Given the description of an element on the screen output the (x, y) to click on. 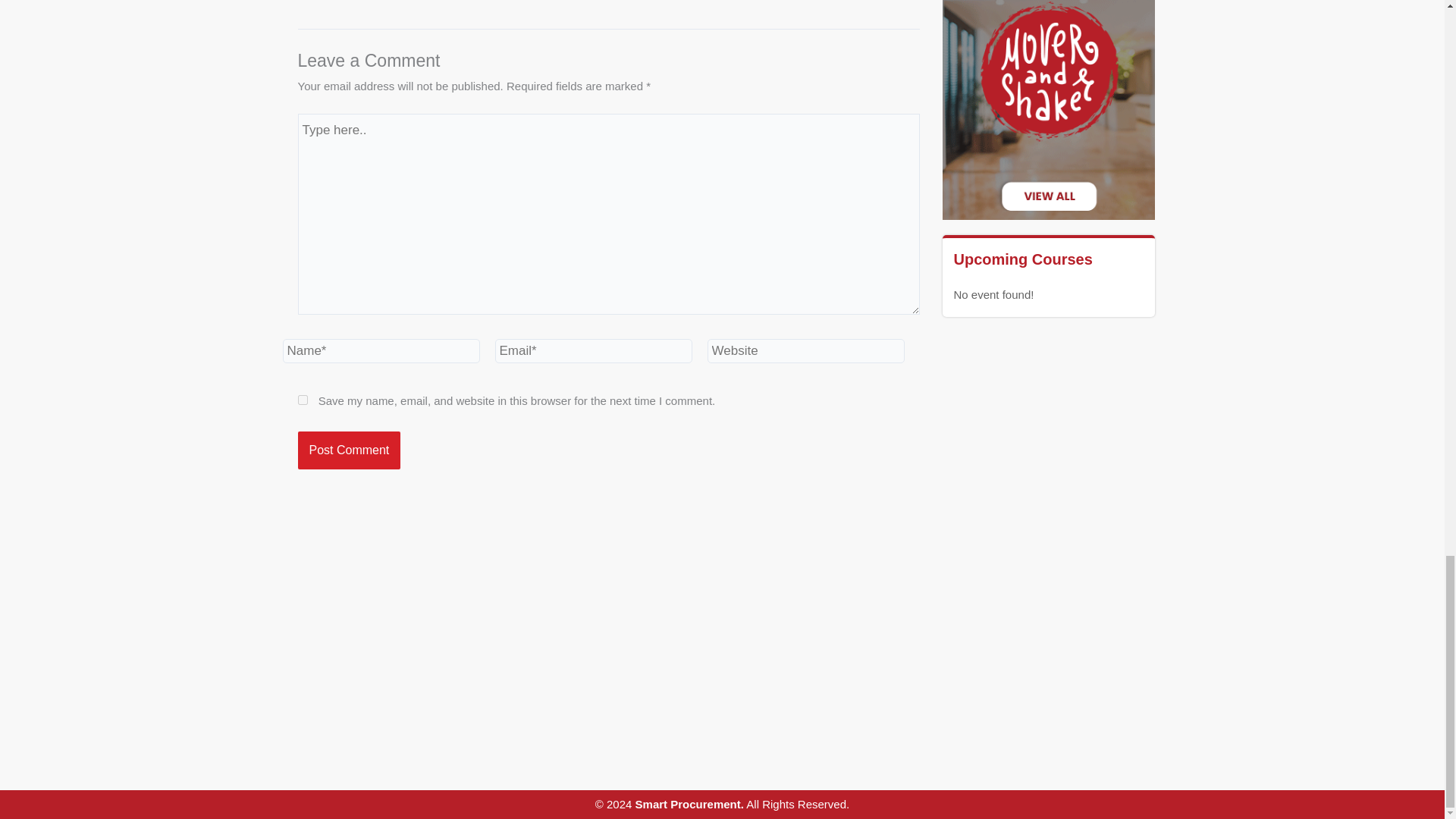
Post Comment (348, 450)
yes (302, 399)
